Given the description of an element on the screen output the (x, y) to click on. 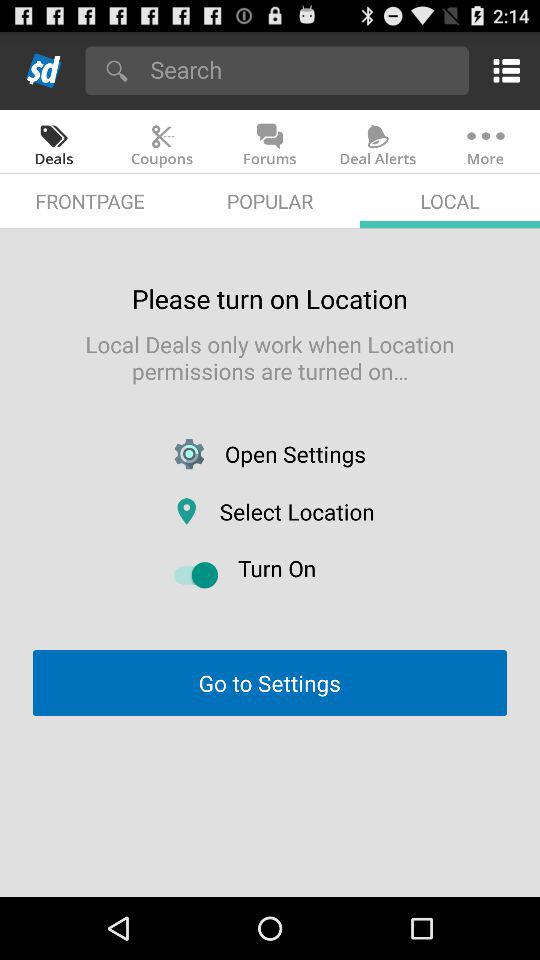
go to home page (44, 70)
